Given the description of an element on the screen output the (x, y) to click on. 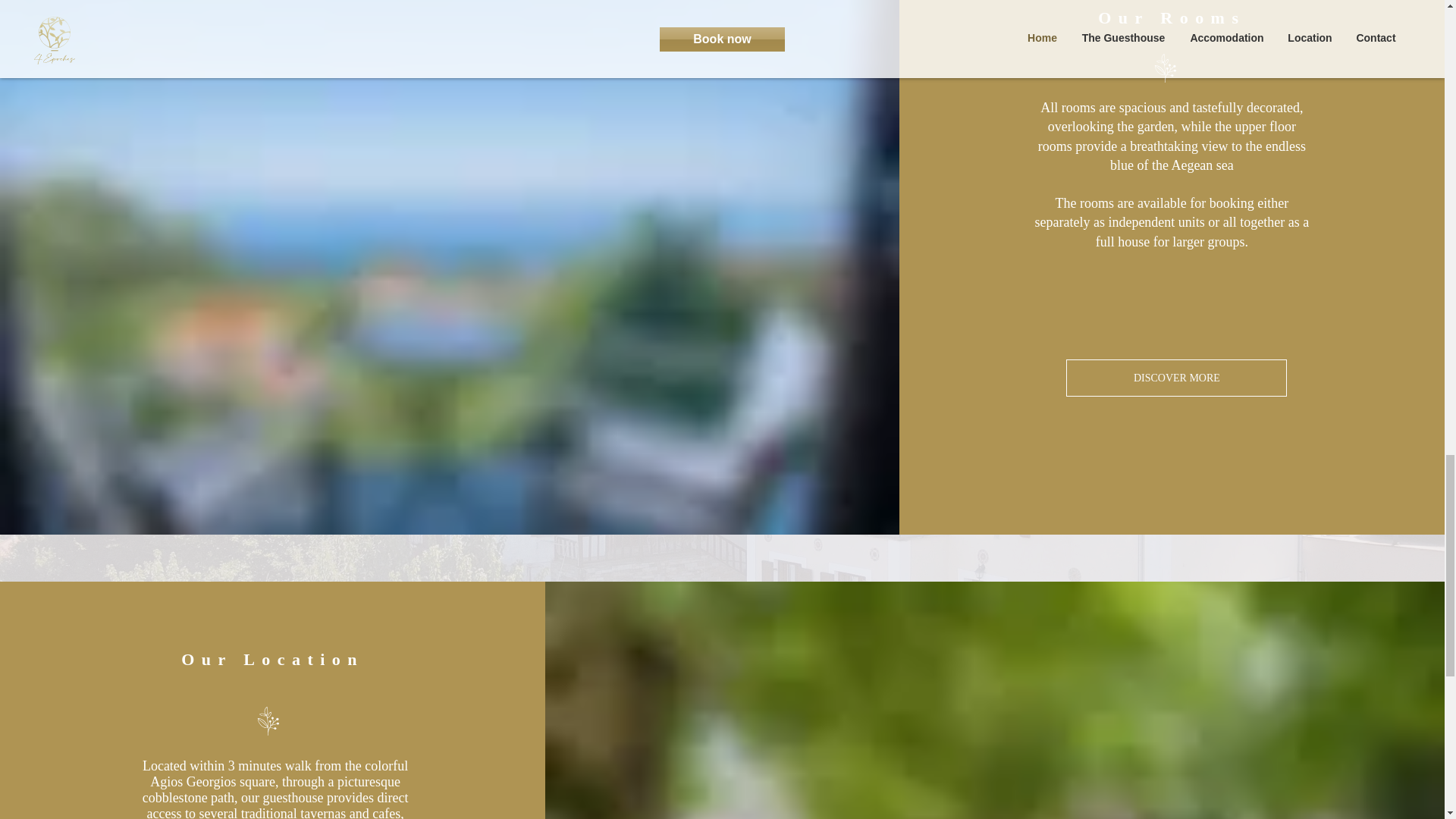
DISCOVER MORE (1176, 377)
